Given the description of an element on the screen output the (x, y) to click on. 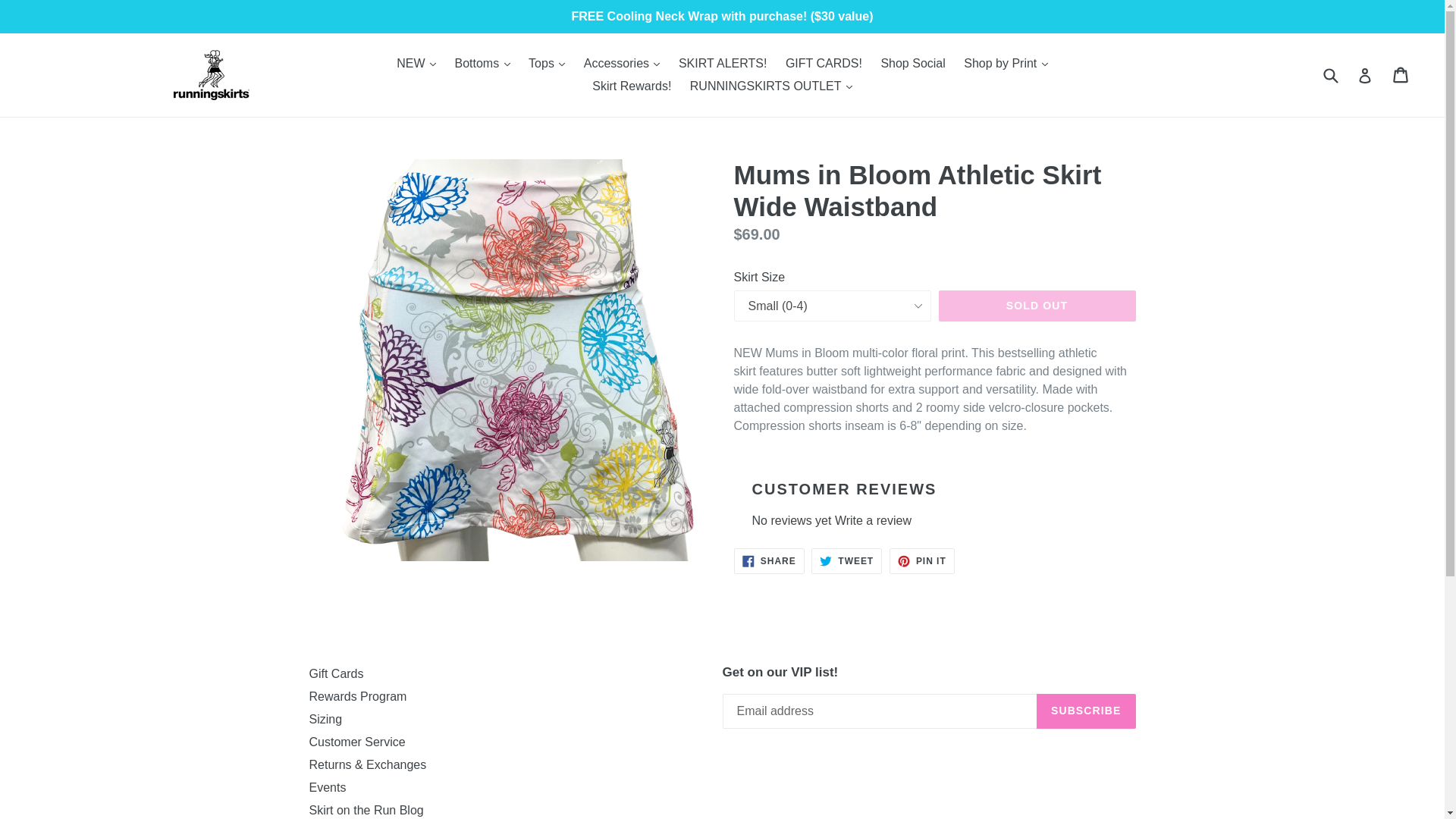
Tweet on Twitter (846, 560)
Share on Facebook (769, 560)
Pin on Pinterest (922, 560)
